Given the description of an element on the screen output the (x, y) to click on. 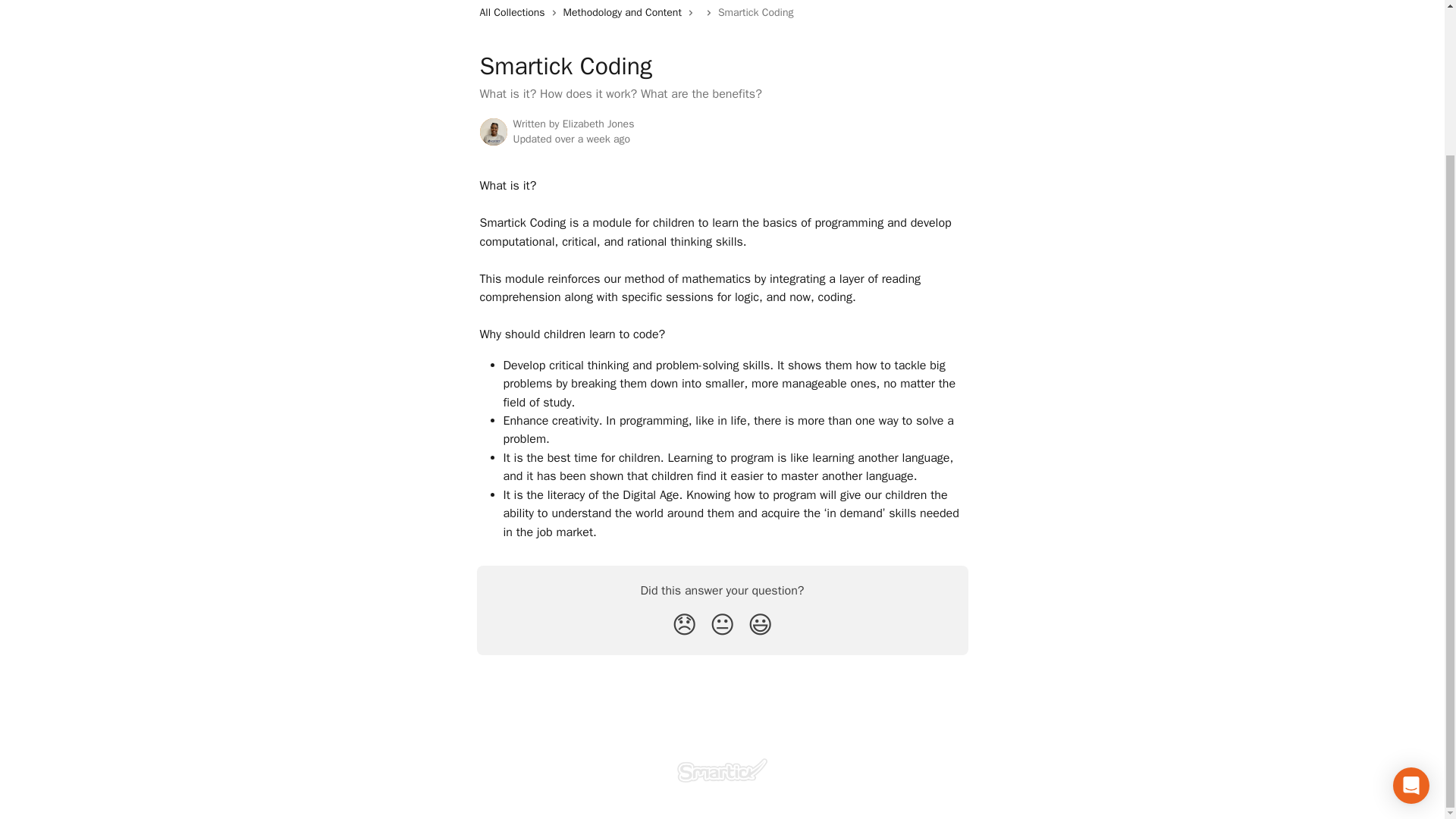
Methodology and Content (625, 12)
All Collections (514, 12)
